Given the description of an element on the screen output the (x, y) to click on. 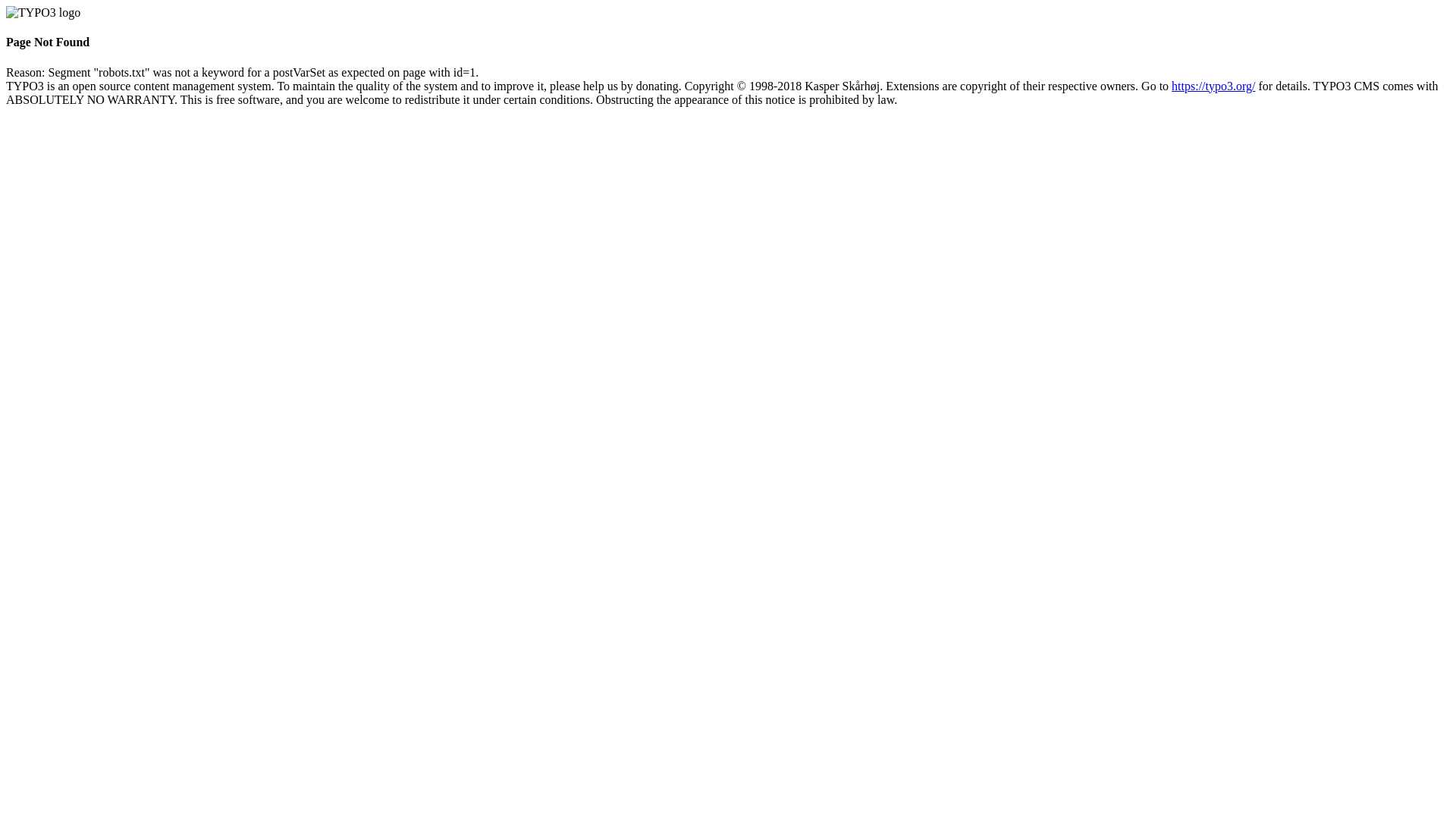
https://typo3.org/ Element type: text (1213, 85)
